Given the description of an element on the screen output the (x, y) to click on. 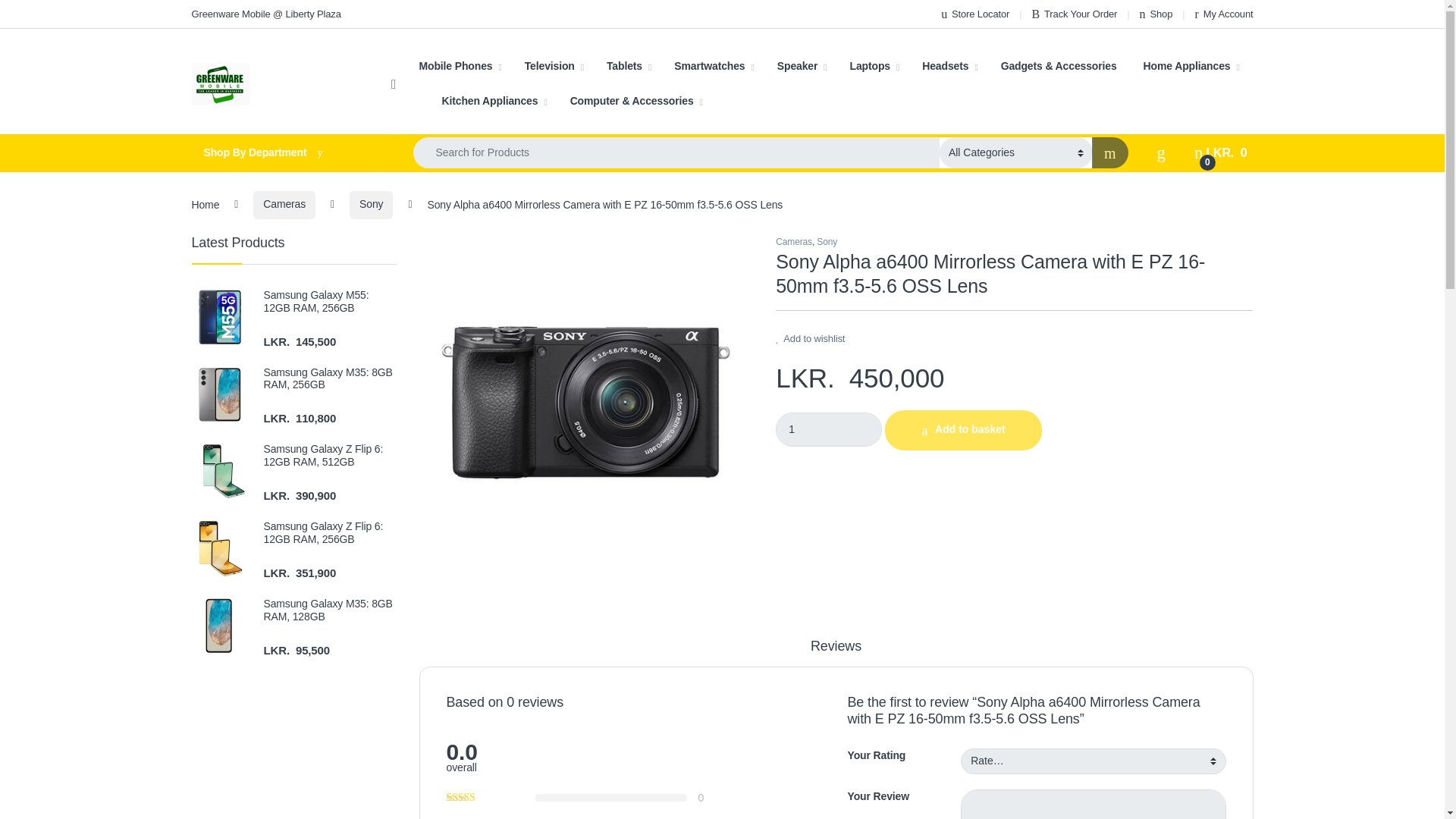
Track Your Order (1073, 13)
Store Locator (974, 13)
My Account (1224, 13)
Shop (1156, 13)
Store Locator (974, 13)
My Account (1224, 13)
1 (829, 429)
Shop (1156, 13)
Track Your Order (1073, 13)
